Given the description of an element on the screen output the (x, y) to click on. 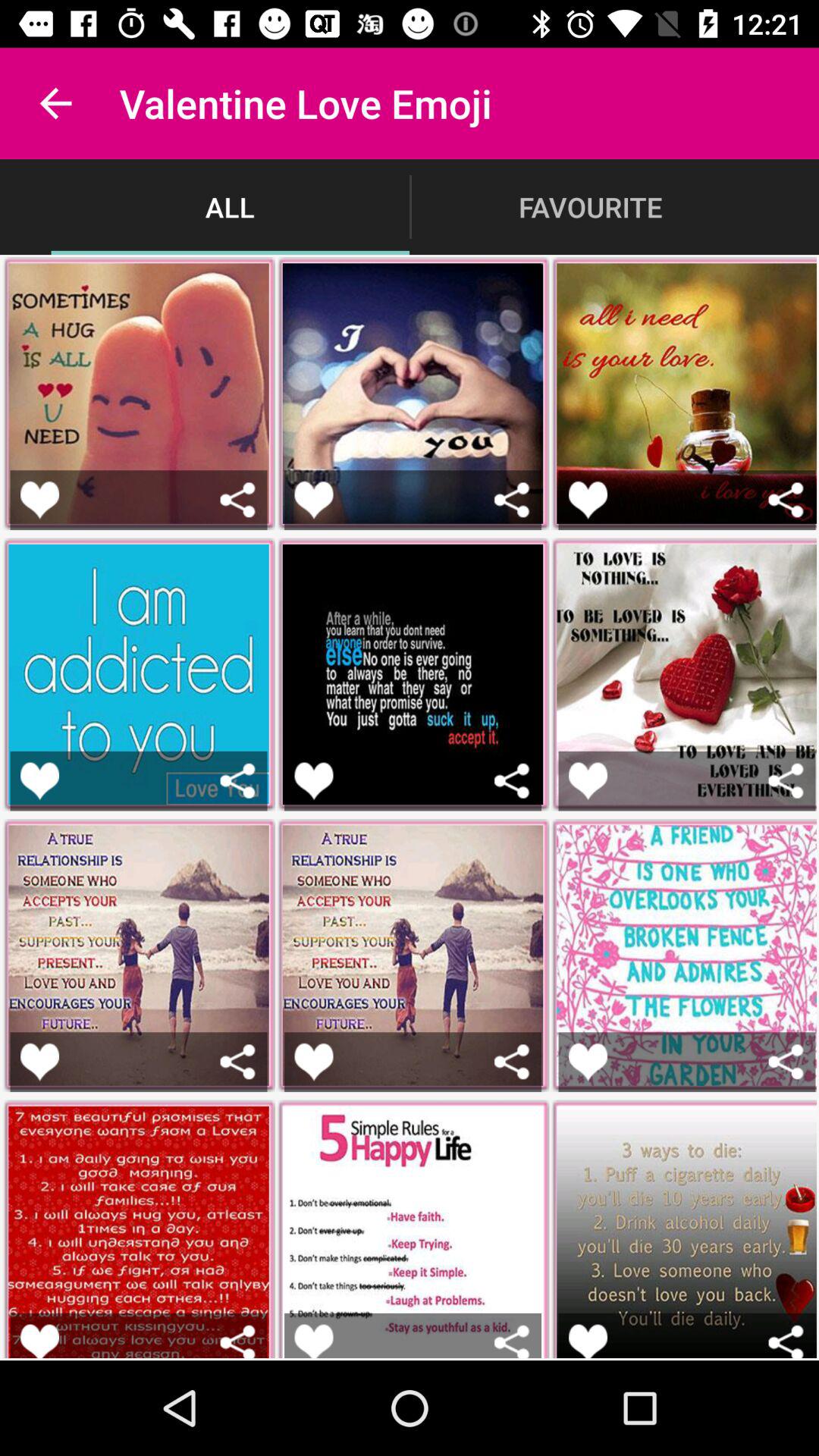
share the emoji (237, 499)
